Given the description of an element on the screen output the (x, y) to click on. 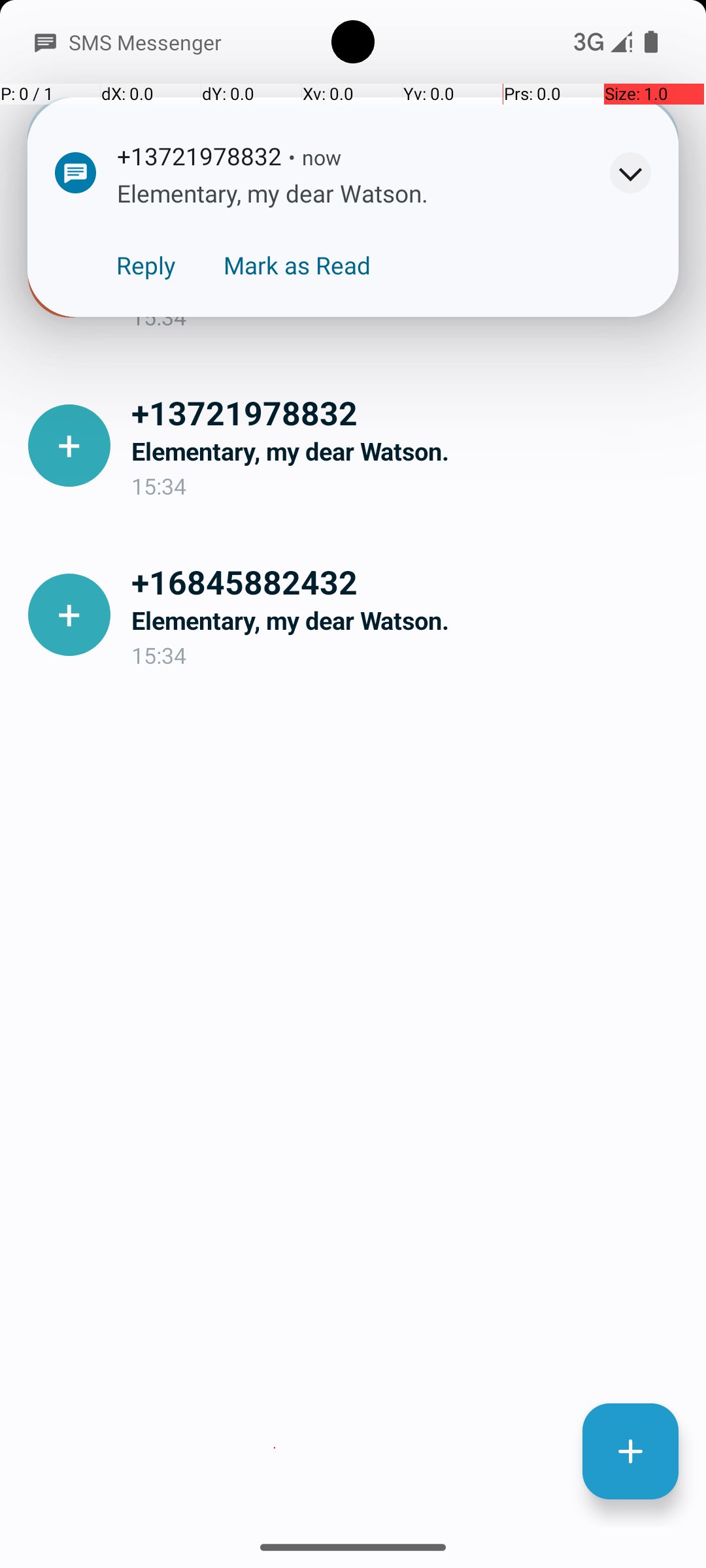
+15324584129 Element type: android.widget.TextView (408, 242)
Hello, World! Element type: android.widget.TextView (408, 281)
+13721978832 Element type: android.widget.TextView (408, 412)
Elementary, my dear Watson. Element type: android.widget.TextView (408, 450)
+16845882432 Element type: android.widget.TextView (408, 581)
On Element type: android.widget.Switch (186, 4)
Off Element type: android.widget.Switch (518, 49)
Through the Storm by Mohammad is playing from Retro Music Element type: android.view.ViewGroup (352, 248)
This phone Element type: android.widget.LinearLayout (584, 131)
Through the Storm Element type: android.widget.TextView (168, 244)
Mohammad Element type: android.widget.TextView (119, 279)
Play Element type: android.widget.ImageButton (609, 255)
Previous track Element type: android.widget.ImageButton (68, 365)
00:00 of 04:06 Element type: android.widget.SeekBar (270, 365)
Next track Element type: android.widget.ImageButton (472, 365)
Cycle repeat mode Element type: android.widget.ImageButton (554, 365)
Toggle shuffle mode Element type: android.widget.ImageButton (637, 365)
Expand Element type: android.widget.Button (630, 172)
Reply Element type: android.widget.Button (146, 265)
Mark as Read Element type: android.widget.Button (296, 265)
Media device Element type: android.widget.LinearLayout (571, 138)
• Element type: android.widget.TextView (291, 157)
now Element type: android.widget.TextView (321, 157)
Alerted Element type: android.widget.ImageView (361, 158)
